Given the description of an element on the screen output the (x, y) to click on. 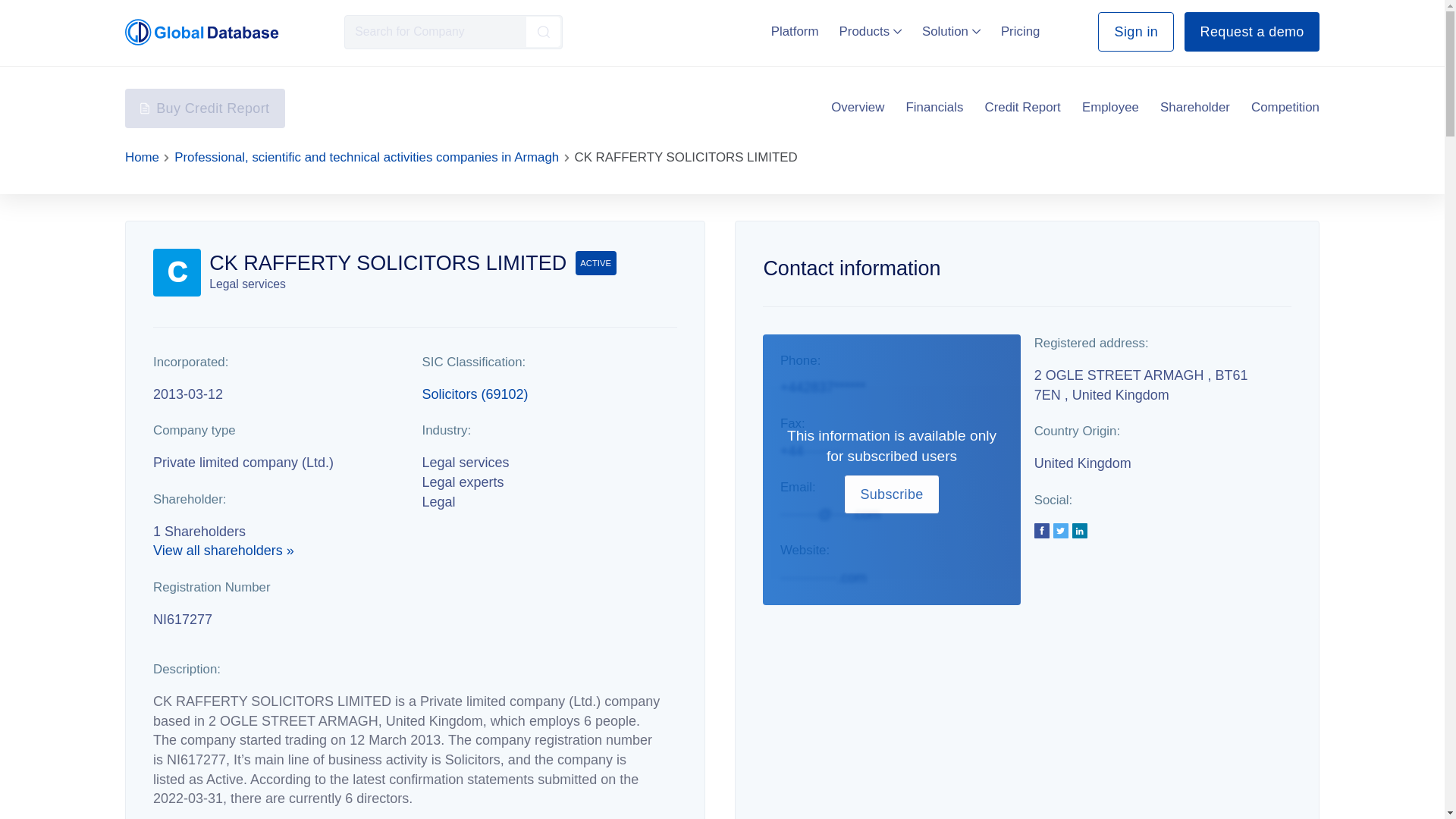
Shareholder (1195, 107)
Financials (934, 107)
Pricing (1021, 31)
Sign in (1135, 31)
Employee (1109, 107)
Platform (794, 31)
Overview (857, 107)
Buy Credit Report (205, 107)
Request a demo (1252, 31)
Credit Report (1023, 107)
